Given the description of an element on the screen output the (x, y) to click on. 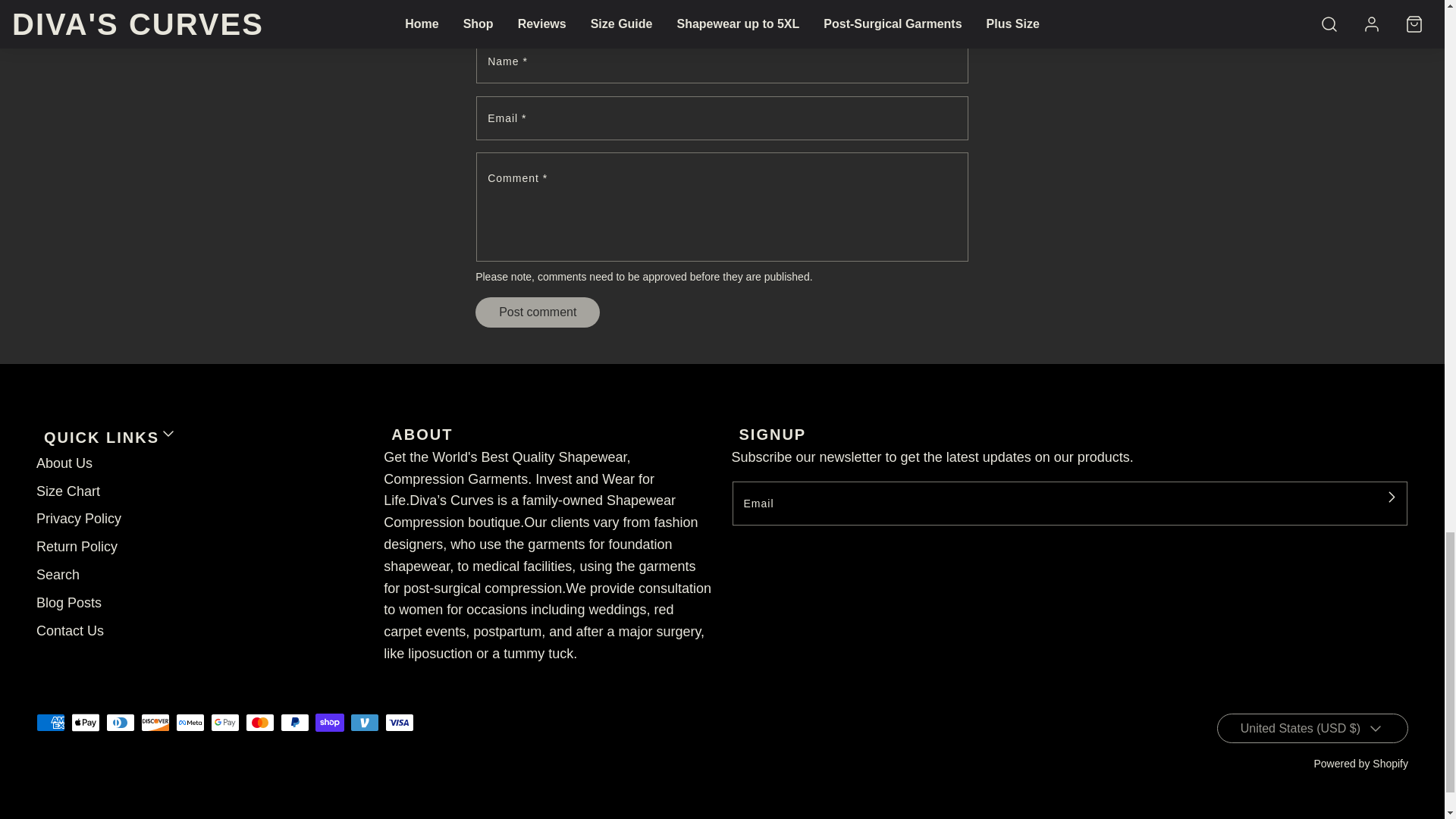
Apple Pay (85, 722)
American Express (50, 722)
Contact Us (69, 631)
Powered by Shopify (1360, 763)
Venmo (364, 722)
Return Policy (76, 547)
Mastercard (260, 722)
Shop Pay (329, 722)
Privacy Policy (78, 519)
Post comment (537, 312)
